Given the description of an element on the screen output the (x, y) to click on. 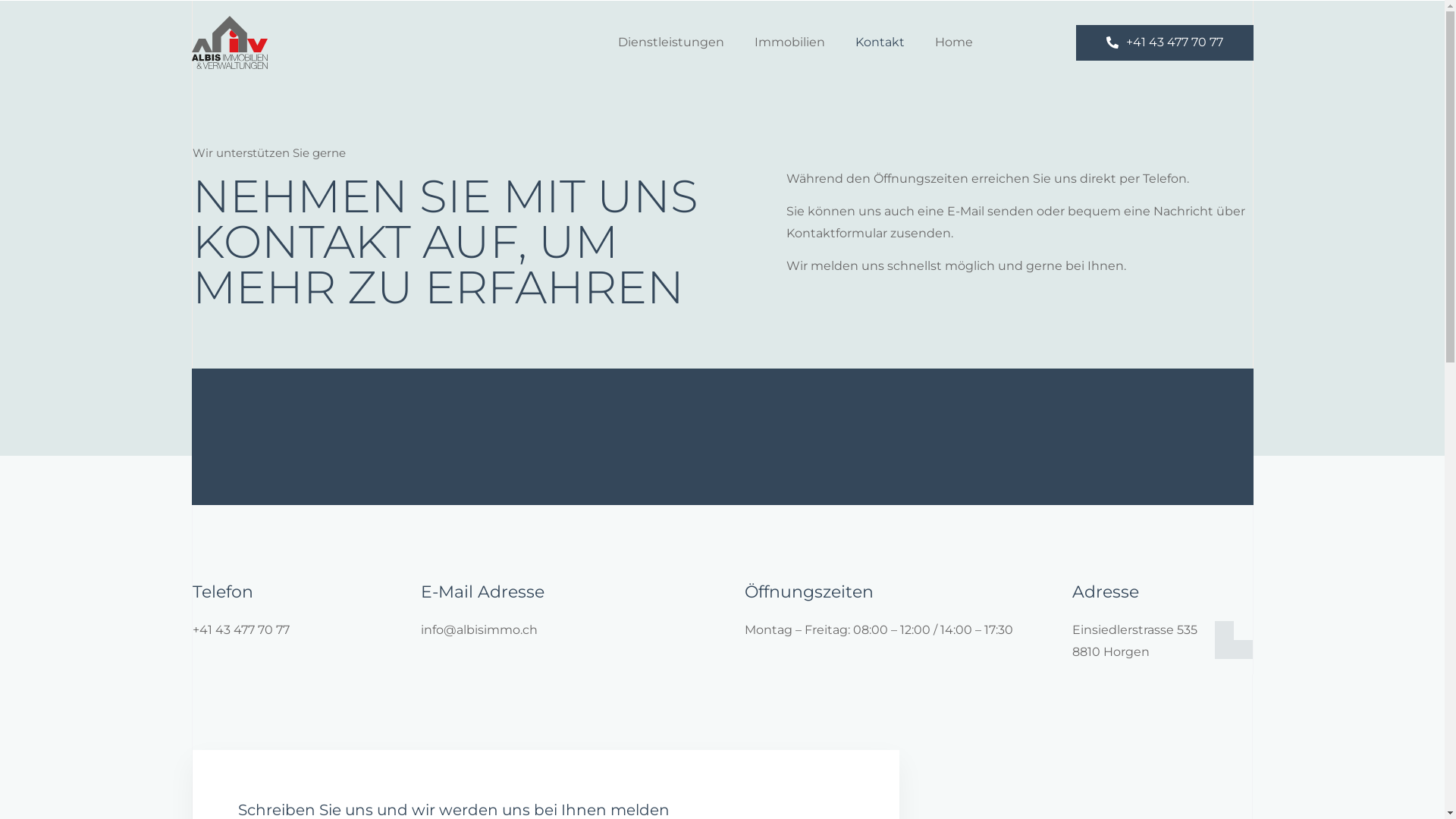
Dienstleistungen Element type: text (670, 42)
Immobilien Element type: text (788, 42)
Home Element type: text (953, 42)
+41 43 477 70 77 Element type: text (1163, 41)
Kontakt Element type: text (879, 42)
